Given the description of an element on the screen output the (x, y) to click on. 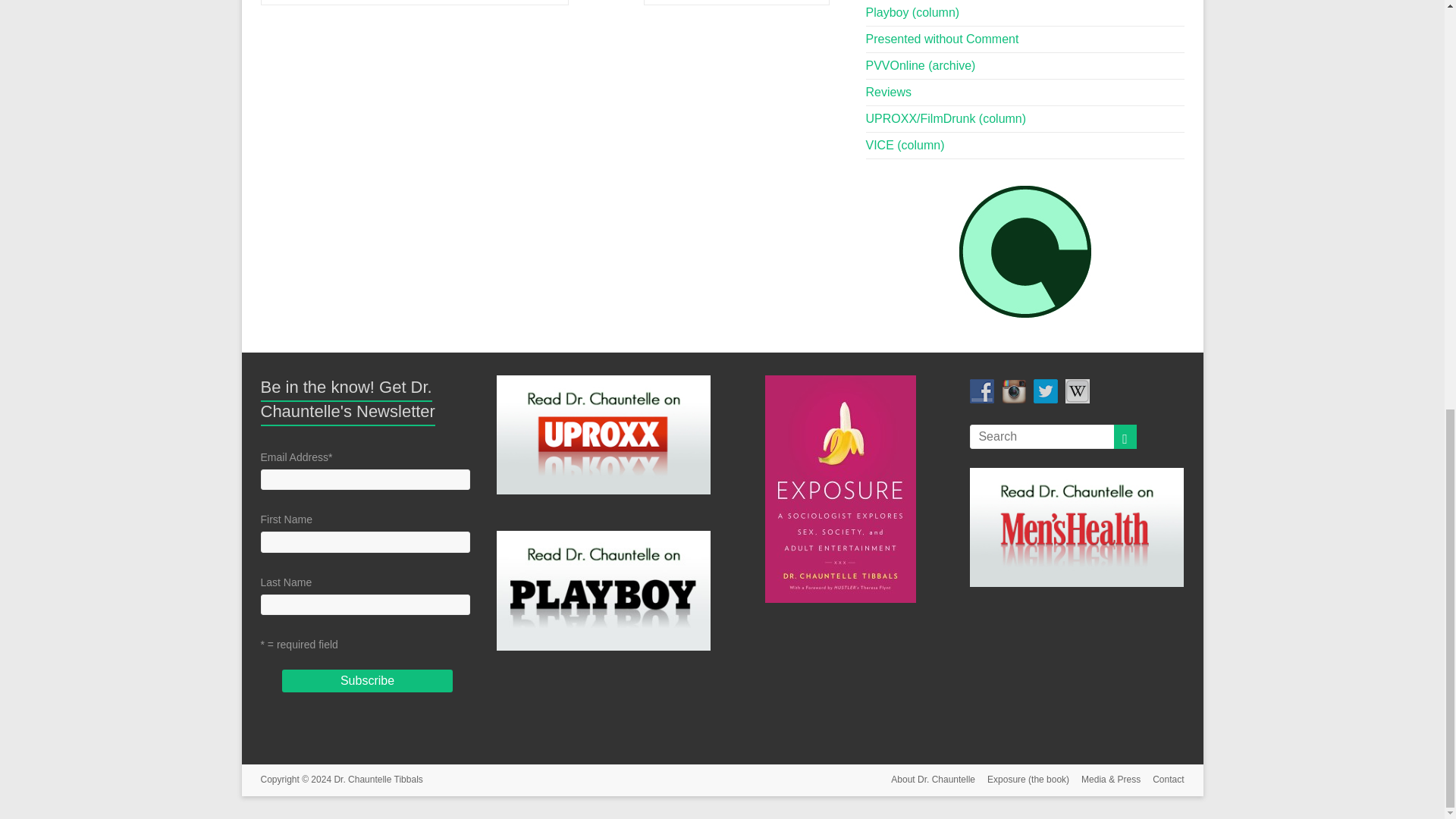
Visit me on  (1077, 391)
Dr. Chauntelle Tibbals (377, 778)
Subscribe (367, 680)
Visit me on Instagram (1013, 391)
Visit me on Facebook (981, 391)
Visit me on Twitter (1045, 391)
Presented without Comment (942, 38)
